Given the description of an element on the screen output the (x, y) to click on. 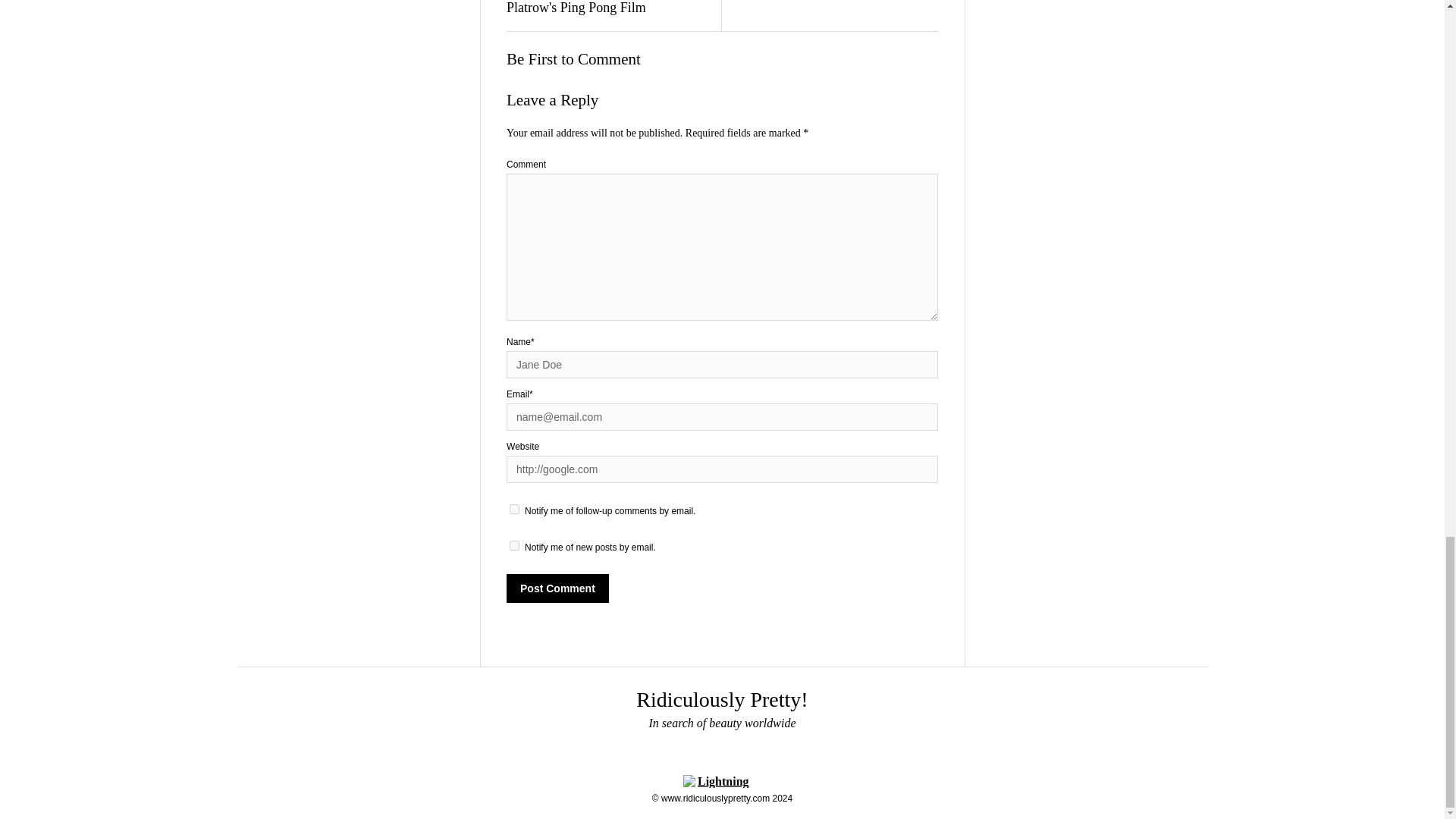
Ridiculously Pretty! (722, 699)
subscribe (514, 509)
Post Comment (557, 588)
Post Comment (557, 588)
subscribe (514, 545)
